Given the description of an element on the screen output the (x, y) to click on. 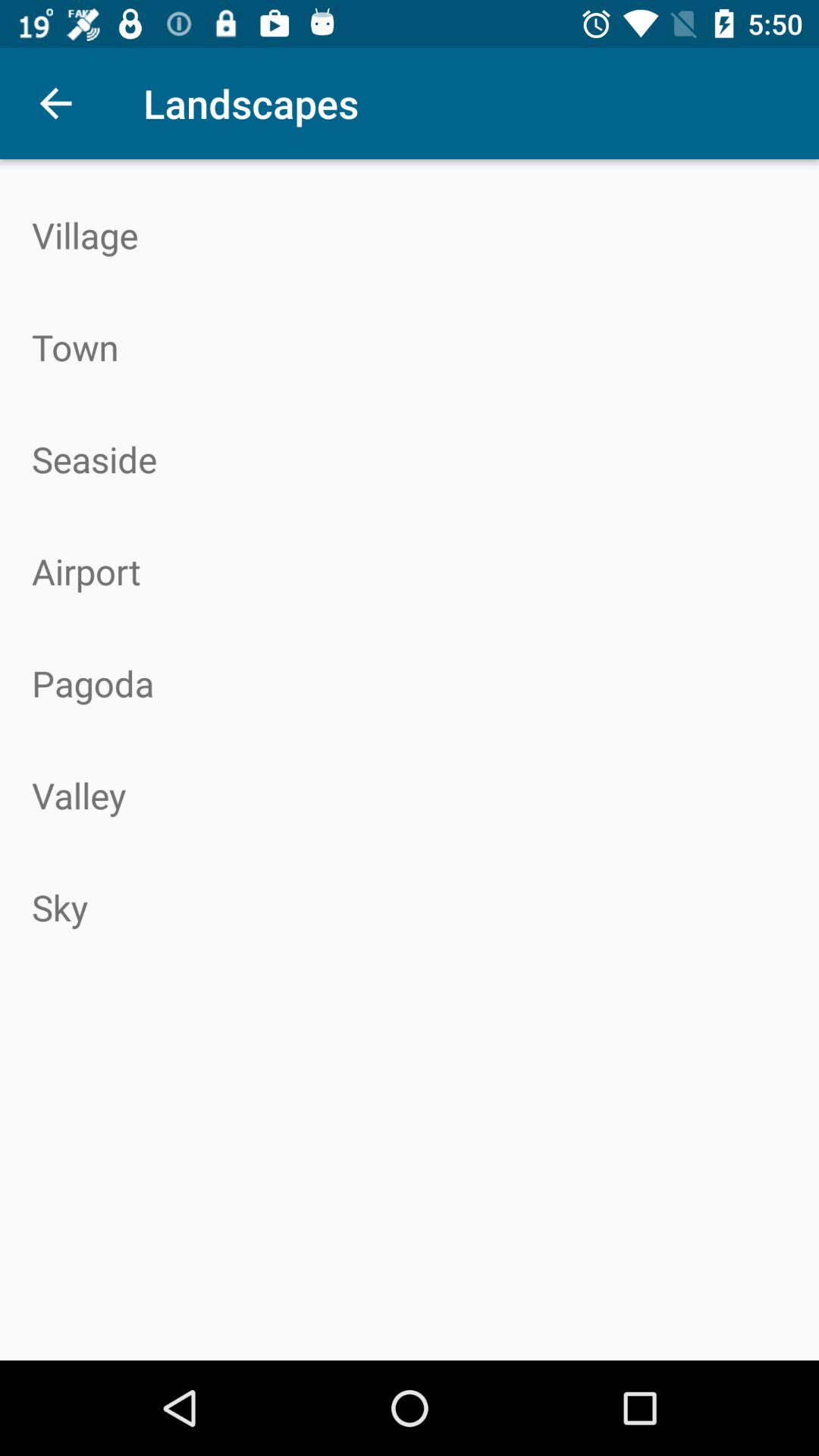
press the item next to landscapes icon (55, 103)
